Given the description of an element on the screen output the (x, y) to click on. 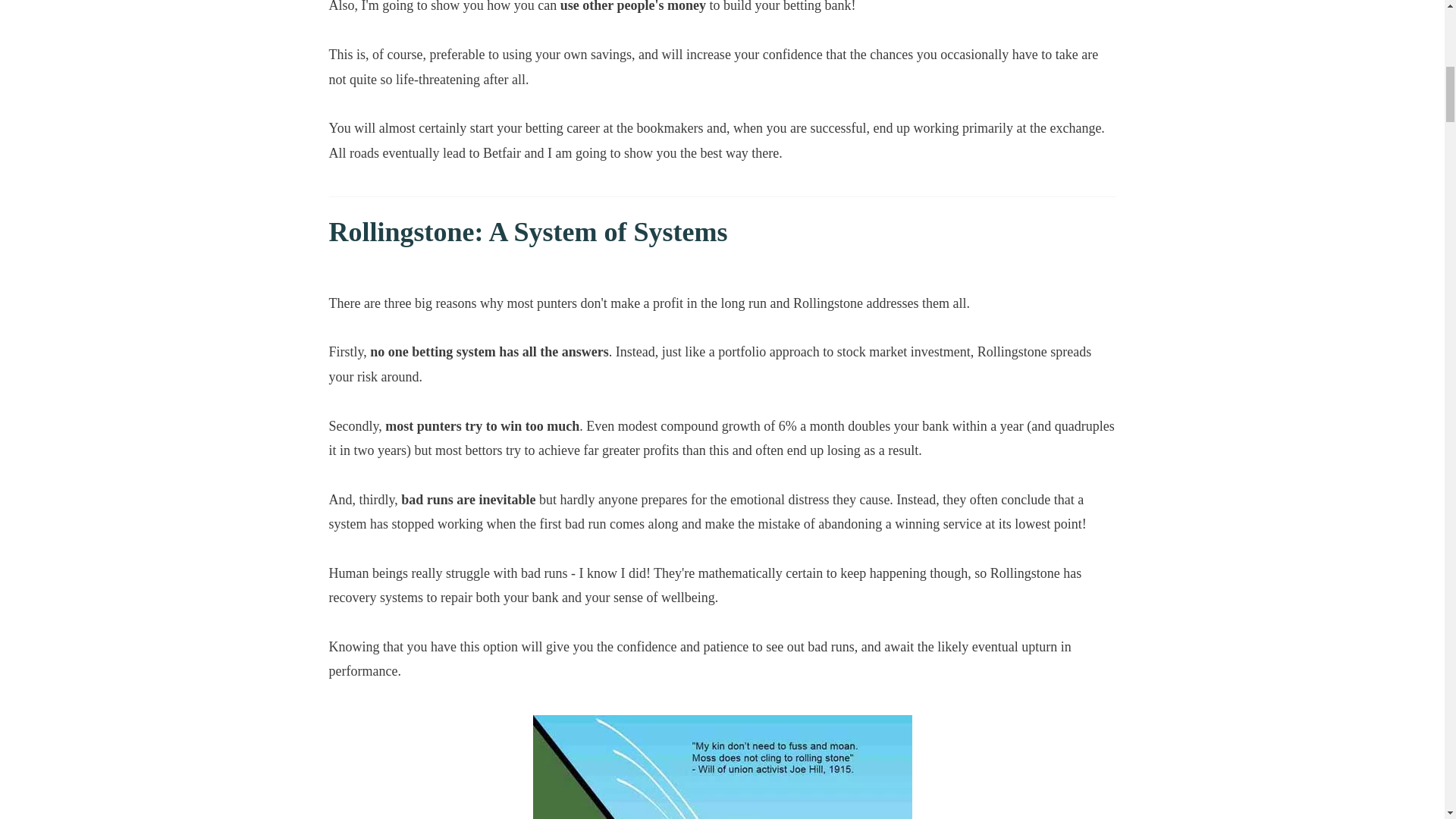
rollingstone-quote-image (721, 766)
